Given the description of an element on the screen output the (x, y) to click on. 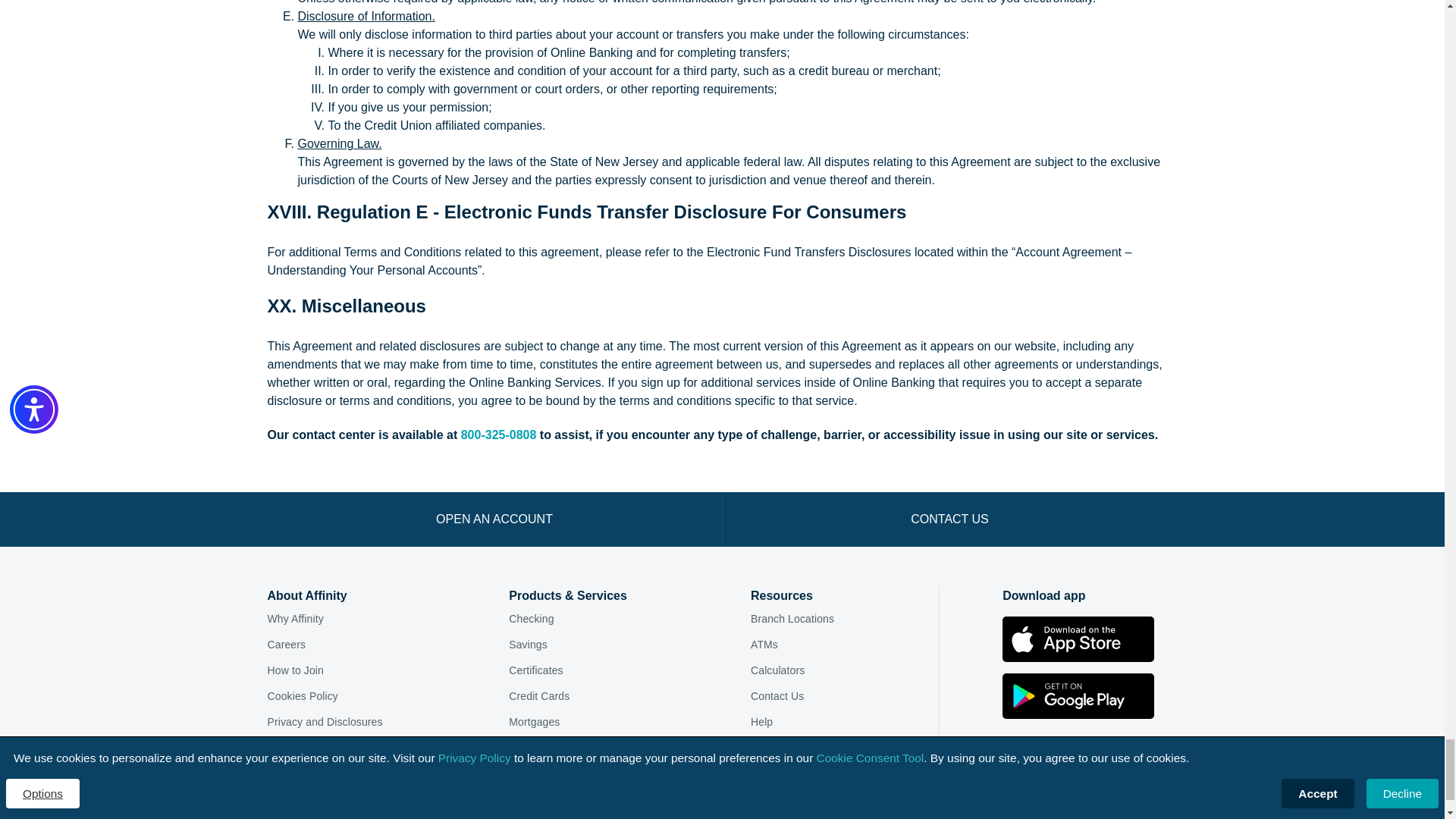
Follow on Twitter (1126, 754)
Follow on Facebook (1015, 754)
Follow on Youtube (1163, 754)
Dial 1-800-325-0808 (499, 434)
Follow on Linkedin (1088, 754)
Follow on Instagram (1052, 754)
